Given the description of an element on the screen output the (x, y) to click on. 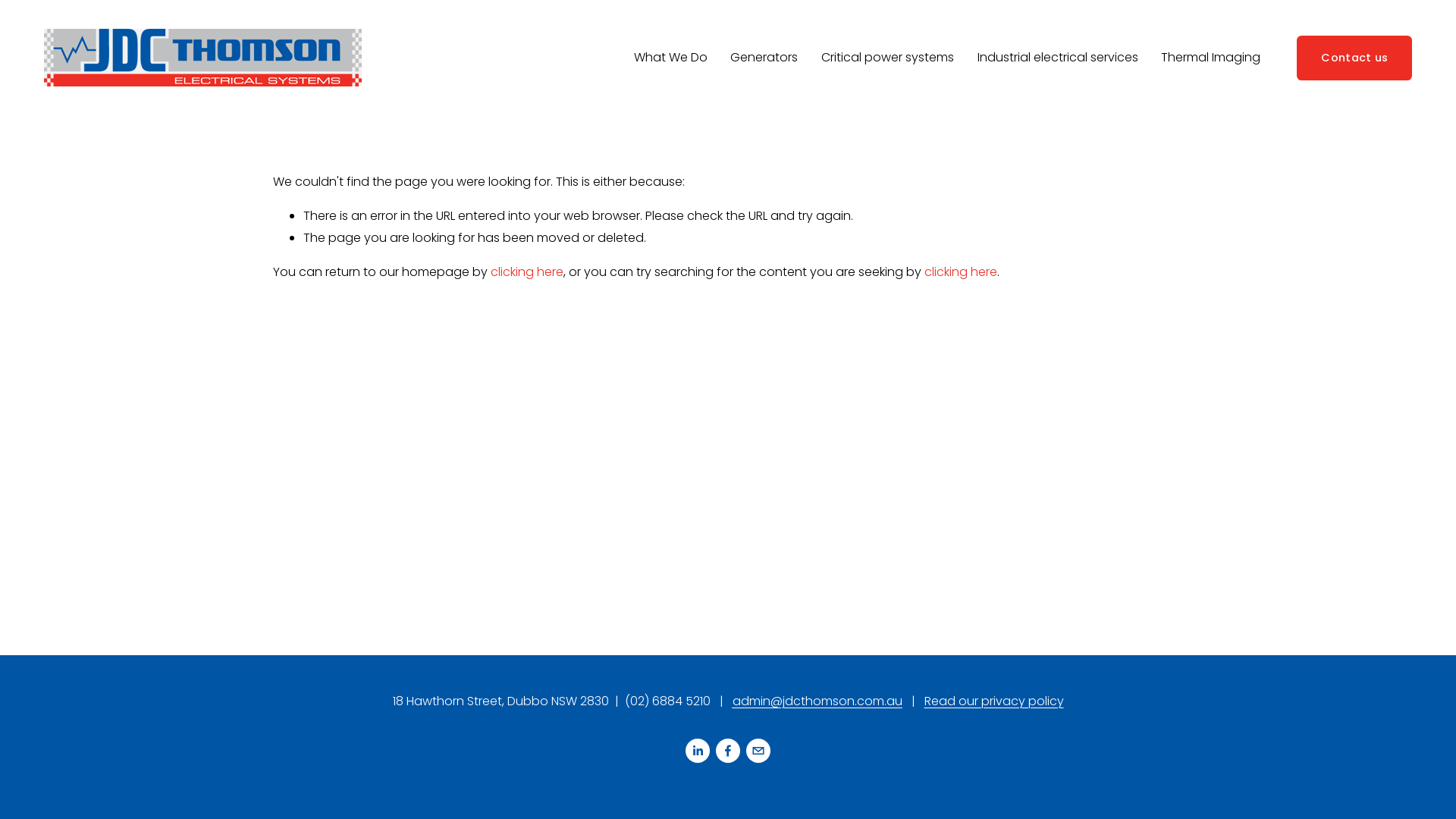
admin@jdcthomson.com.au Element type: text (817, 701)
Critical power systems Element type: text (887, 57)
Read our privacy policy Element type: text (993, 701)
Generators Element type: text (763, 57)
Thermal Imaging Element type: text (1210, 57)
What We Do Element type: text (670, 57)
clicking here Element type: text (526, 271)
Contact us Element type: text (1354, 57)
clicking here Element type: text (960, 271)
Industrial electrical services Element type: text (1057, 57)
